Given the description of an element on the screen output the (x, y) to click on. 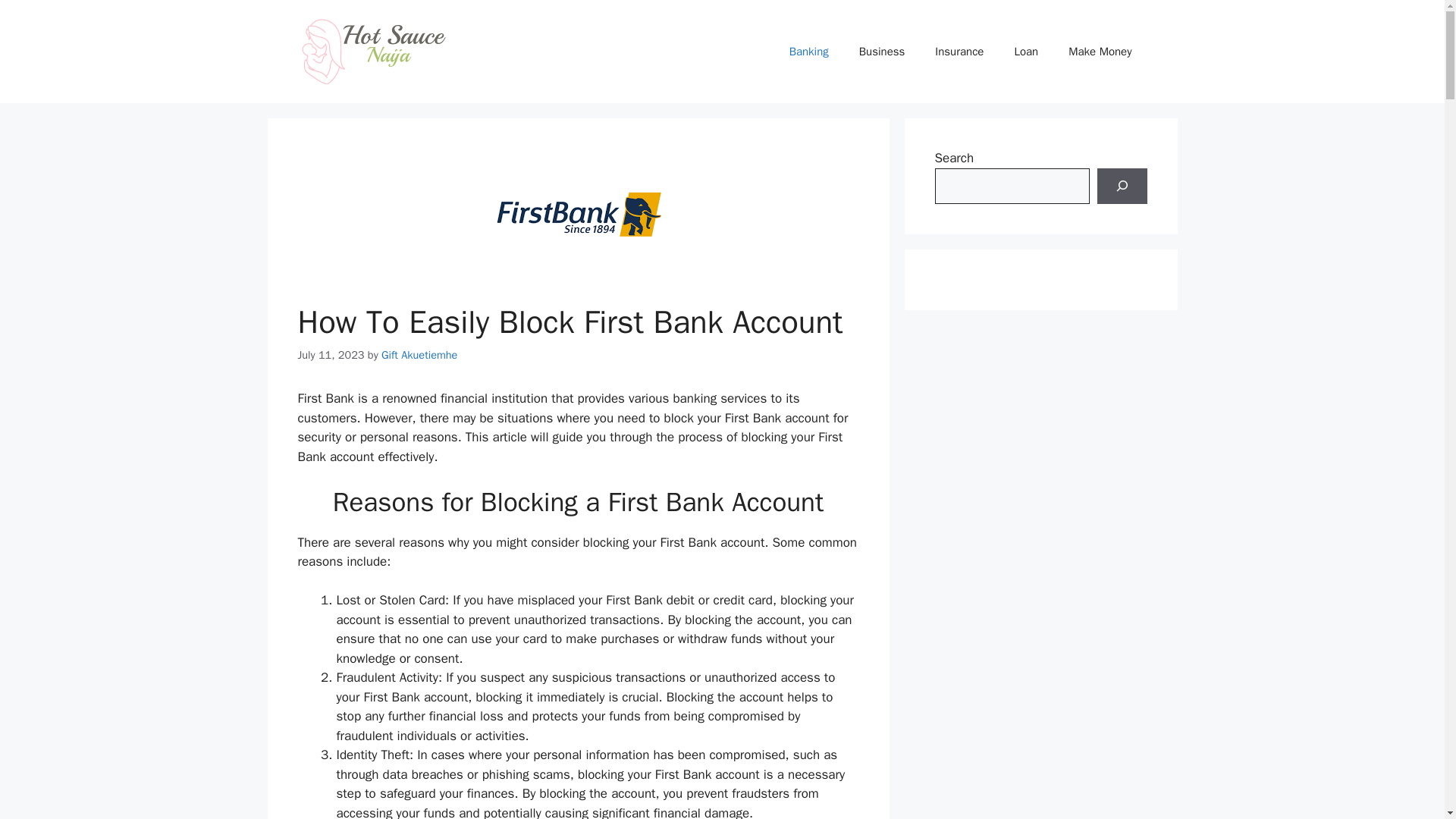
Business (882, 51)
Make Money (1099, 51)
Insurance (959, 51)
Loan (1025, 51)
Banking (809, 51)
Gift Akuetiemhe (419, 354)
View all posts by Gift Akuetiemhe (419, 354)
